Given the description of an element on the screen output the (x, y) to click on. 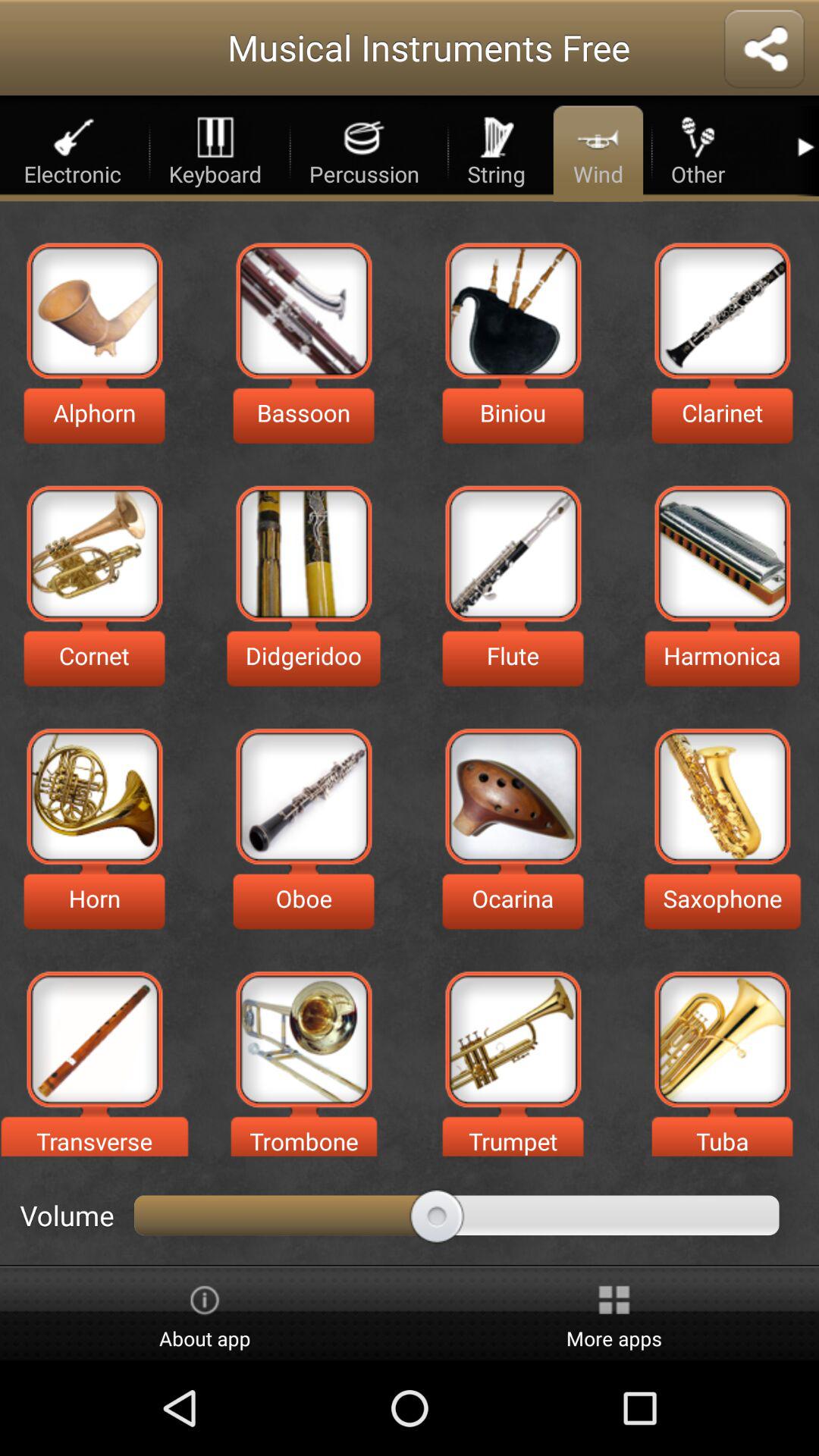
choose the selection (513, 1039)
